Given the description of an element on the screen output the (x, y) to click on. 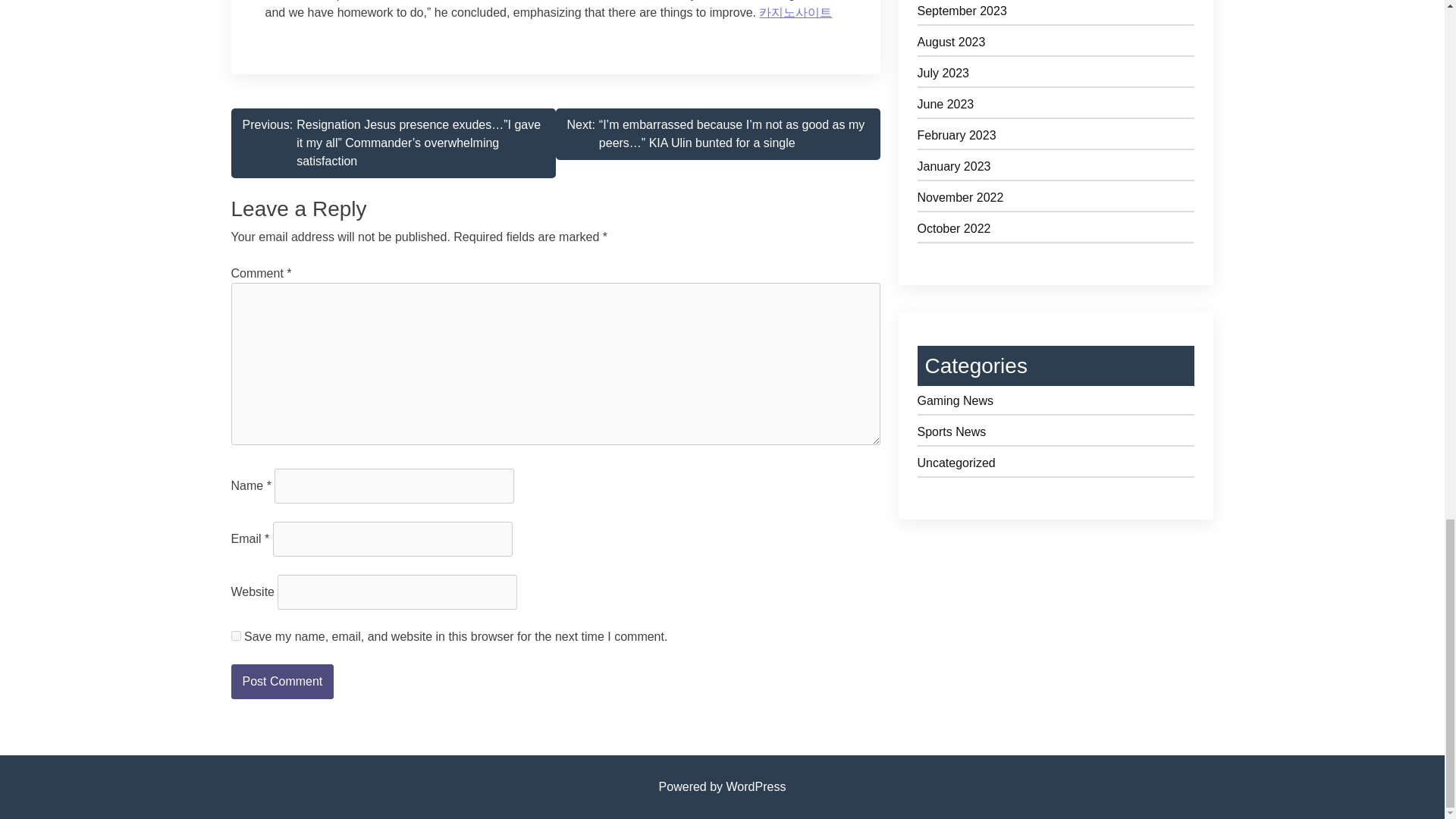
September 2023 (1056, 13)
Post Comment (281, 681)
yes (235, 635)
Post Comment (281, 681)
